Given the description of an element on the screen output the (x, y) to click on. 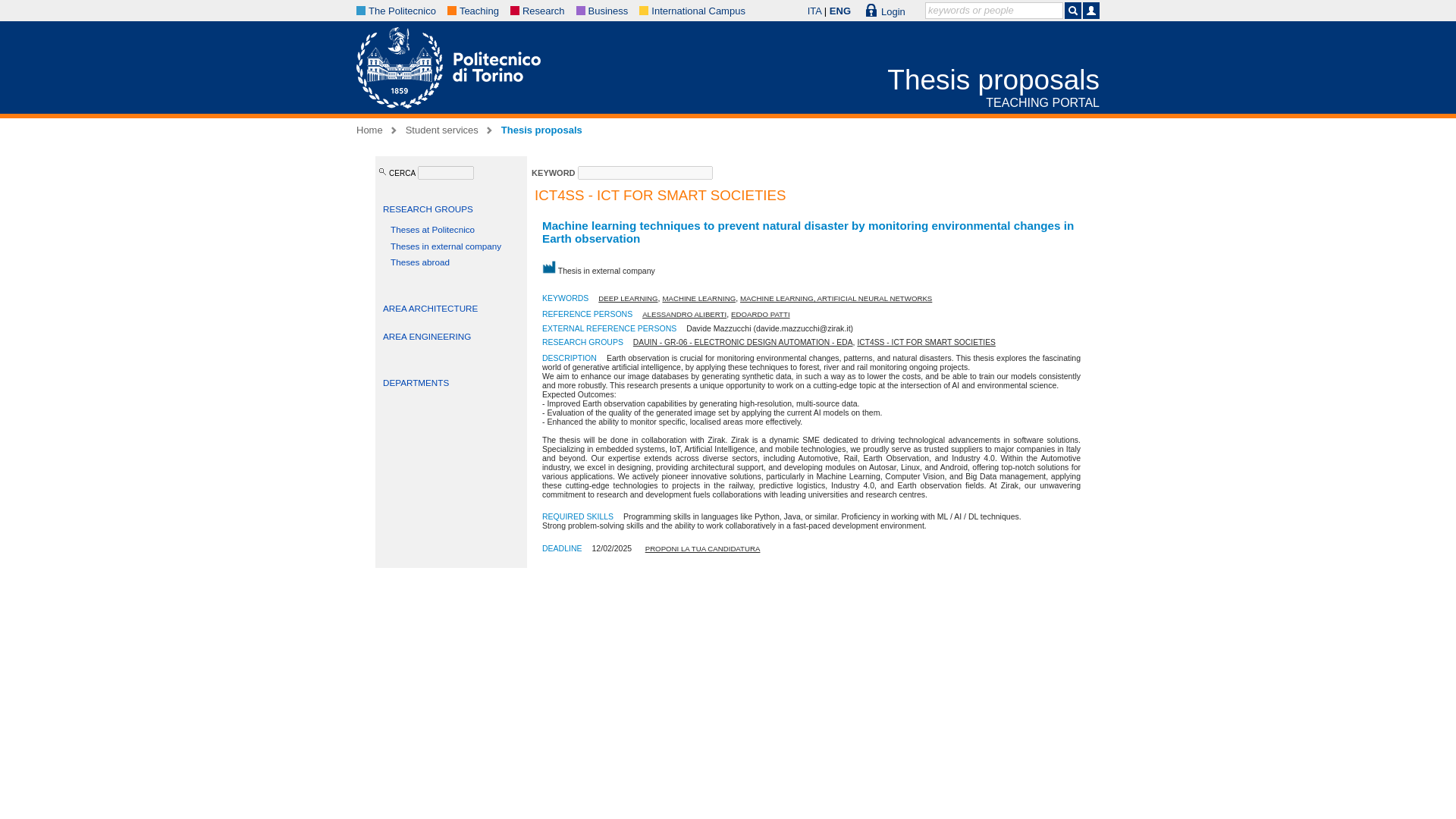
Business (608, 10)
DEEP LEARNING (628, 298)
Theses abroad (419, 261)
Teaching (479, 10)
Search in Address Book (1091, 10)
PROPONI LA TUA CANDIDATURA (702, 548)
AREA ARCHITECTURE (429, 307)
DEPARTMENTS (415, 382)
ITA (815, 10)
The Politecnico (401, 10)
MACHINE LEARNING (698, 298)
Theses at Politecnico (432, 229)
International Campus (697, 10)
EDOARDO PATTI (760, 314)
ENG (839, 10)
